Given the description of an element on the screen output the (x, y) to click on. 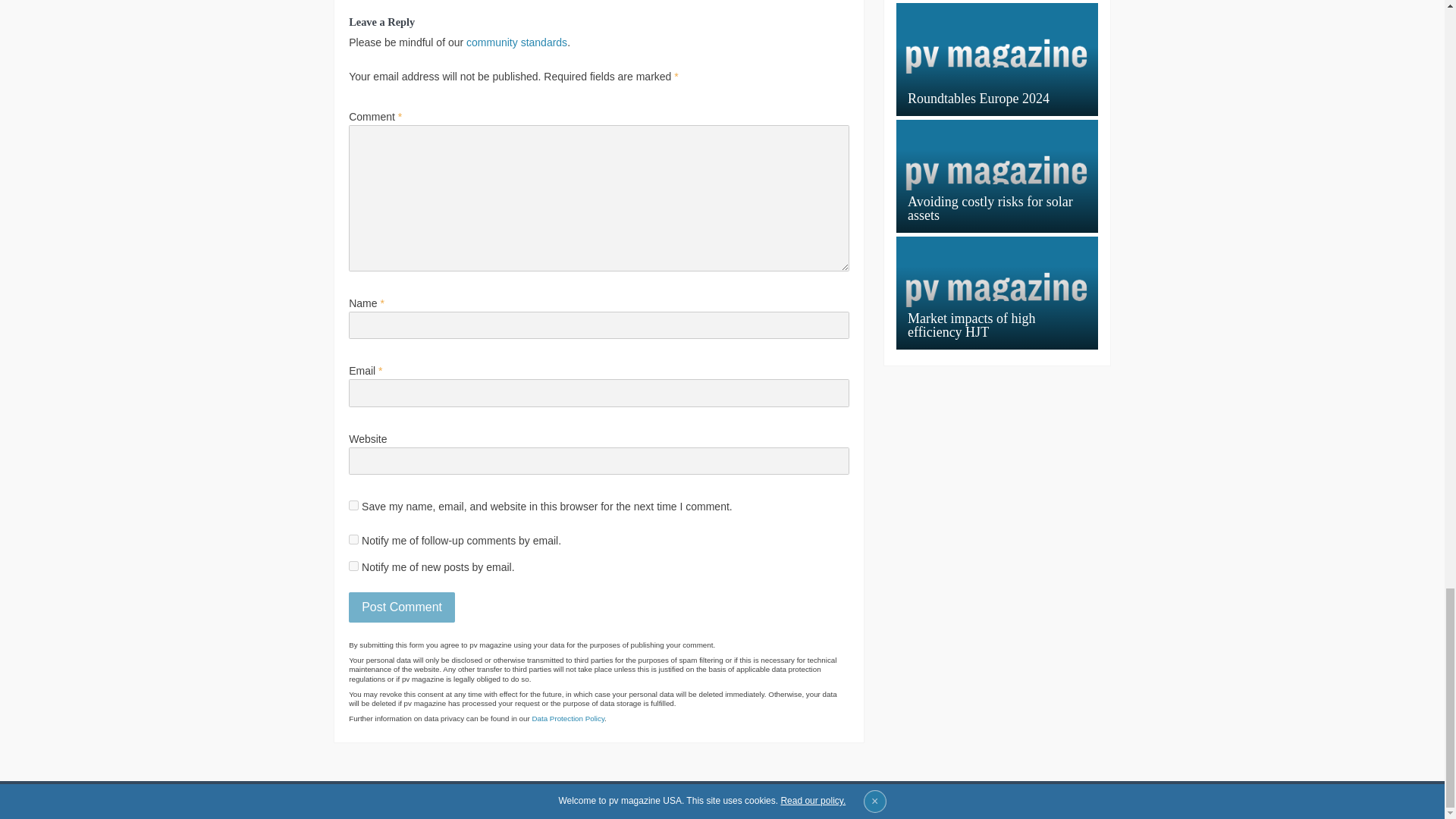
Post Comment (401, 607)
subscribe (353, 565)
subscribe (353, 539)
yes (353, 505)
